Given the description of an element on the screen output the (x, y) to click on. 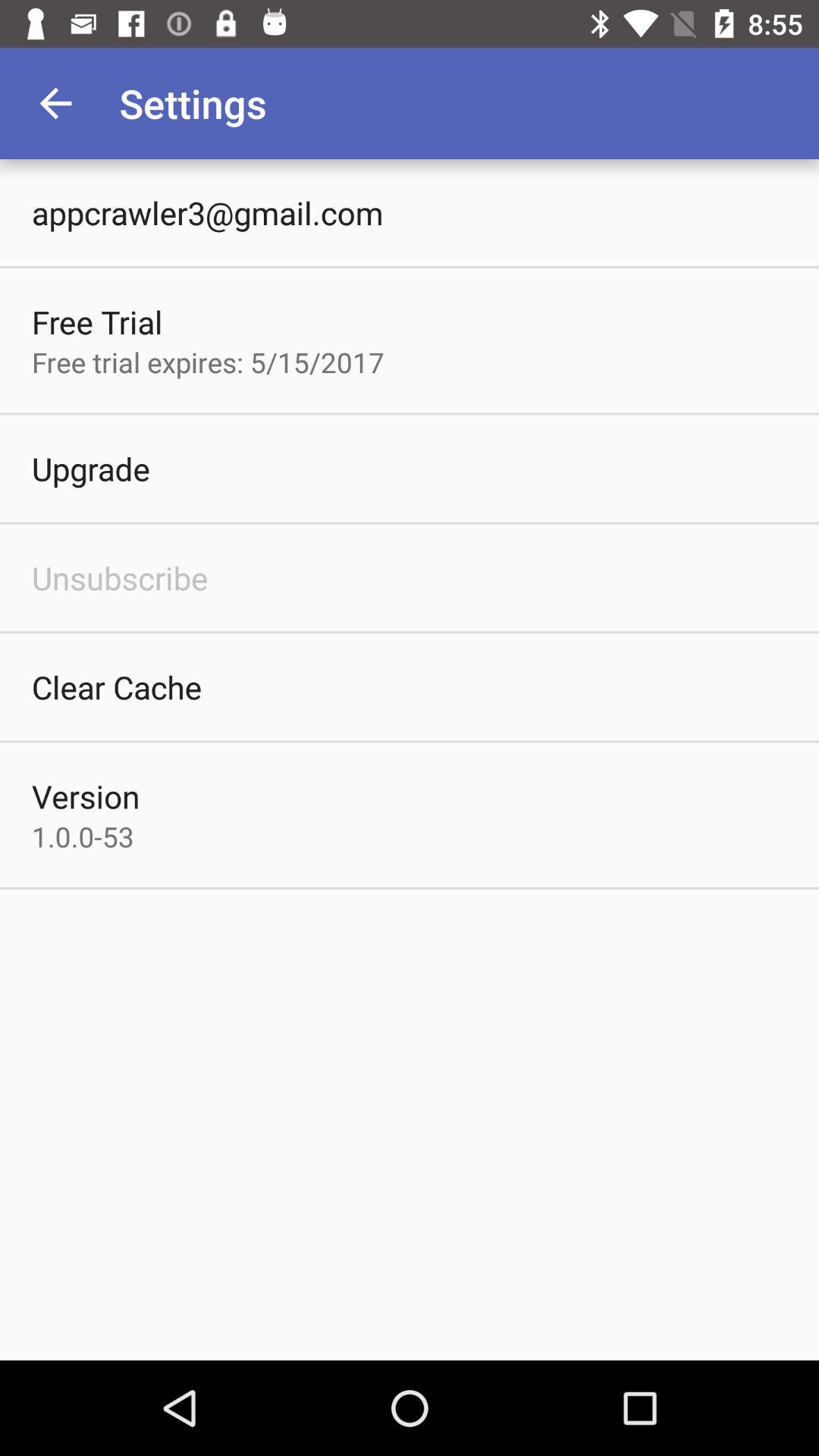
turn off item to the left of settings item (55, 103)
